Given the description of an element on the screen output the (x, y) to click on. 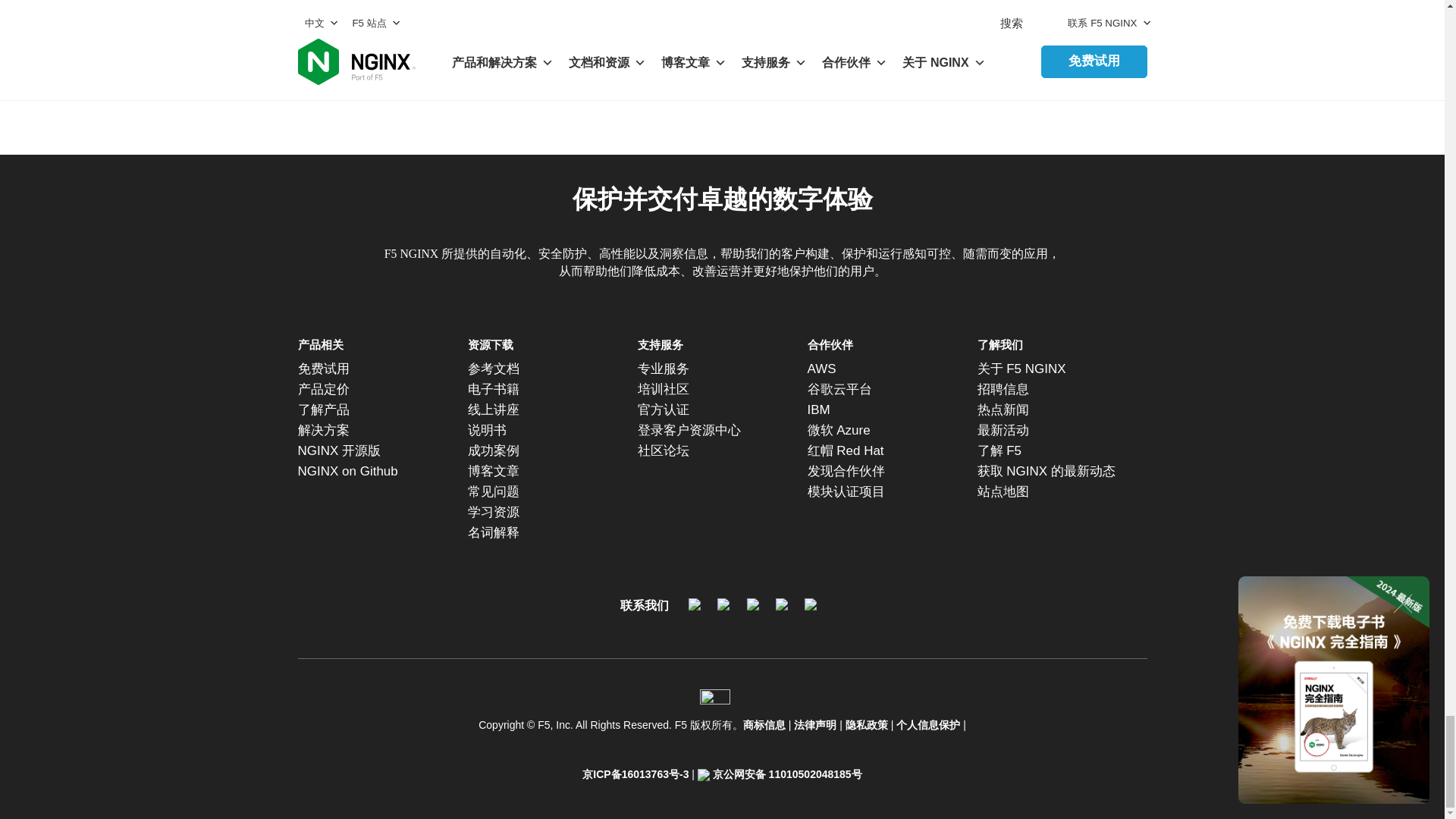
NGINX on Github (370, 471)
